Given the description of an element on the screen output the (x, y) to click on. 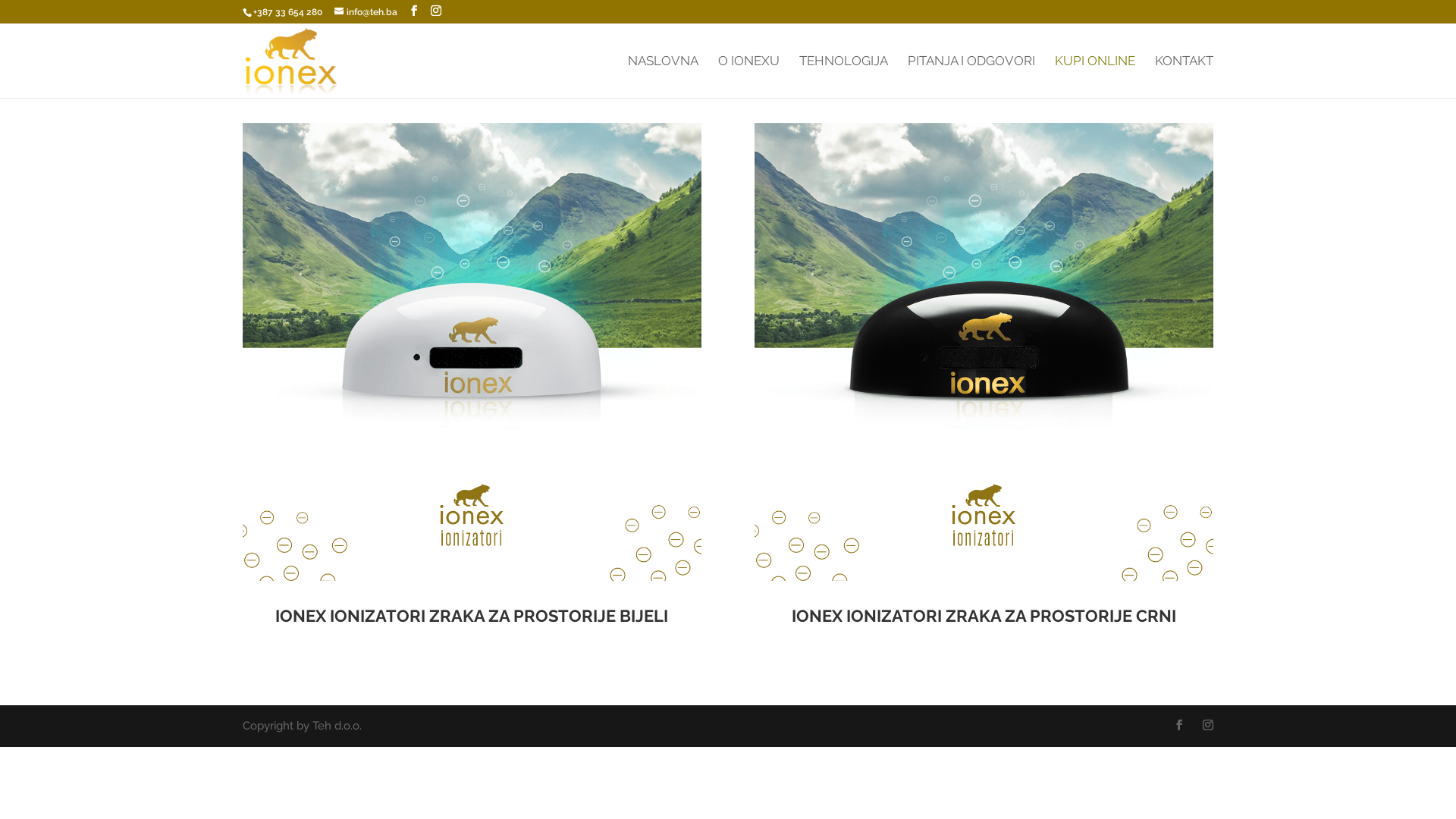
KONTAKT Element type: text (1183, 76)
KUPI ONLINE Element type: text (1094, 76)
PITANJA I ODGOVORI Element type: text (971, 76)
TEHNOLOGIJA Element type: text (843, 76)
O IONEXU Element type: text (748, 76)
NASLOVNA Element type: text (662, 76)
info@teh.ba Element type: text (365, 11)
